Given the description of an element on the screen output the (x, y) to click on. 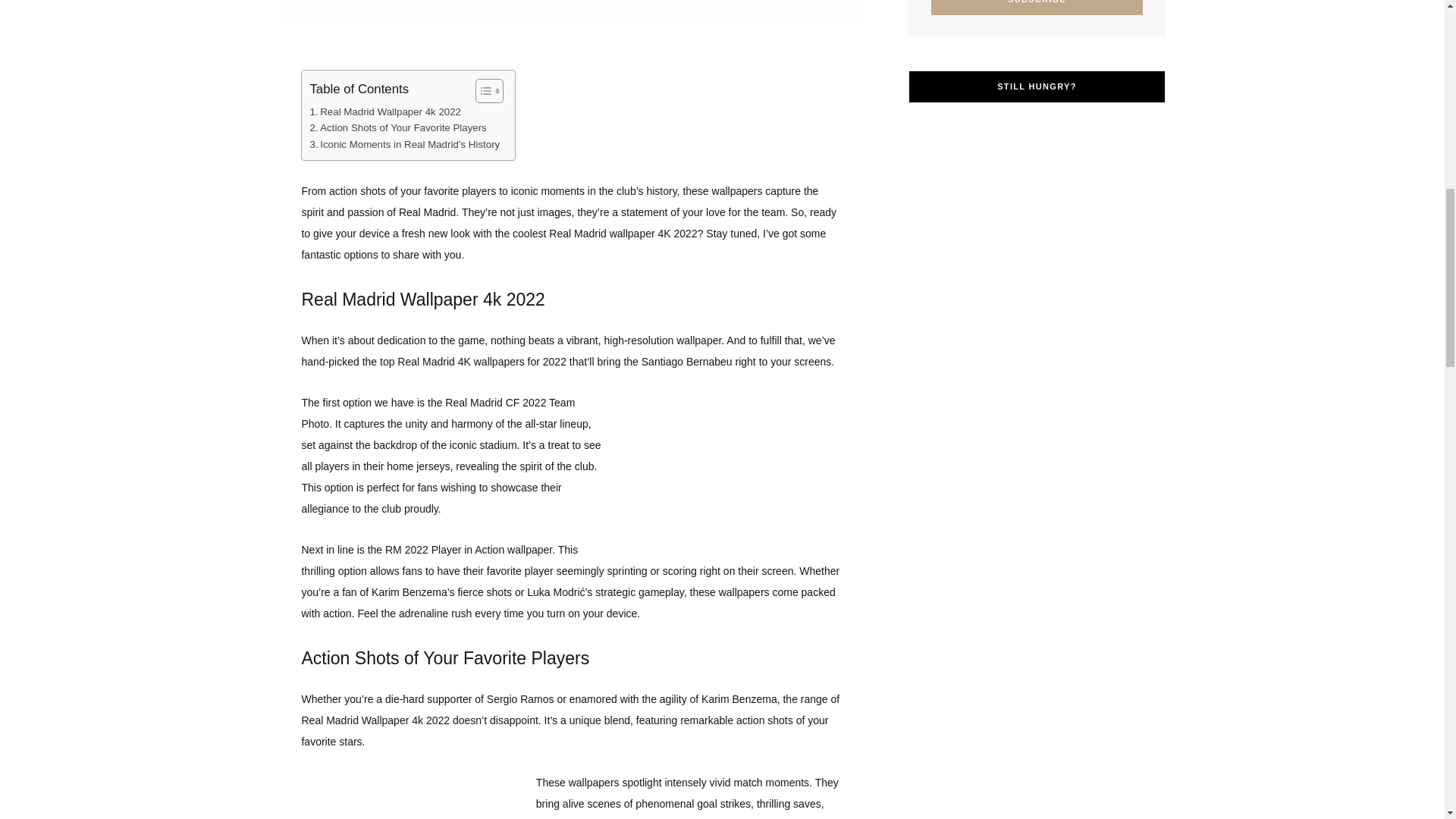
Subscribe (1036, 7)
Action Shots of Your Favorite Players (397, 127)
Real Madrid Wallpaper 4k 2022 (384, 111)
Real Madrid Wallpaper 4k 2022 (384, 111)
Action Shots of Your Favorite Players (397, 127)
